Given the description of an element on the screen output the (x, y) to click on. 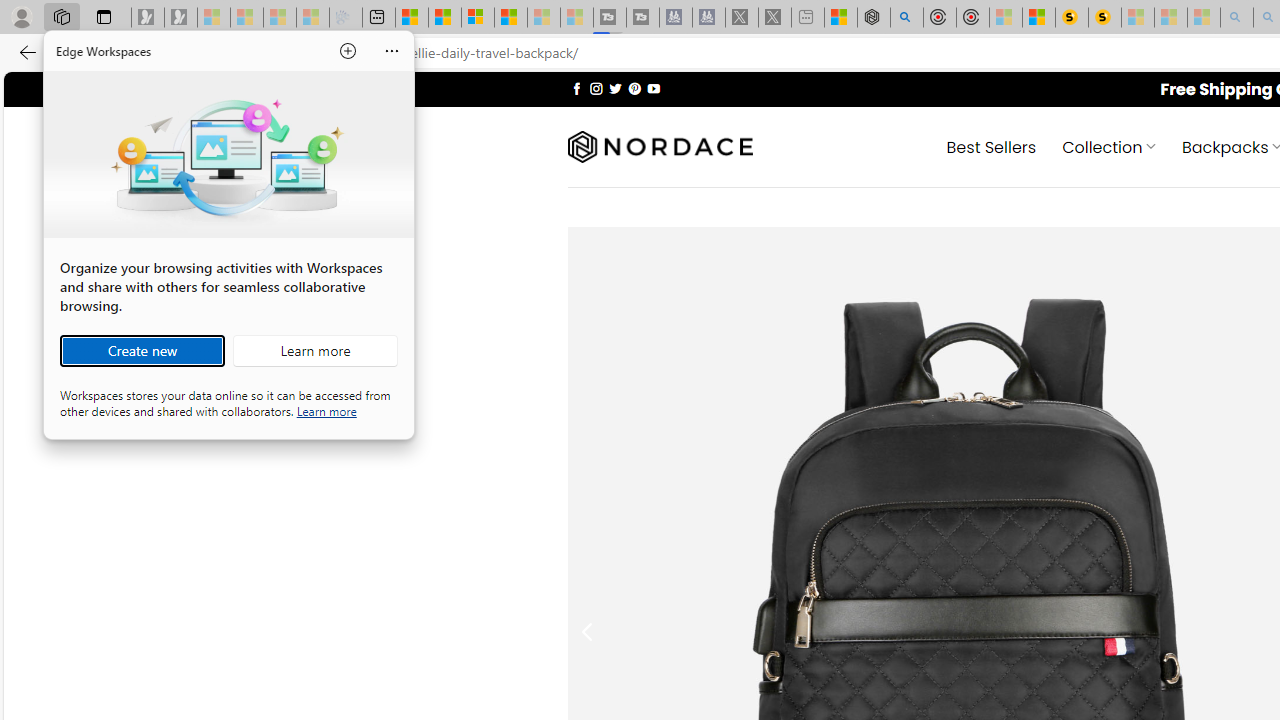
  Best Sellers (990, 146)
Follow on Pinterest (634, 88)
Follow on Instagram (596, 88)
 Best Sellers (990, 146)
Microsoft Start - Sleeping (543, 17)
